Given the description of an element on the screen output the (x, y) to click on. 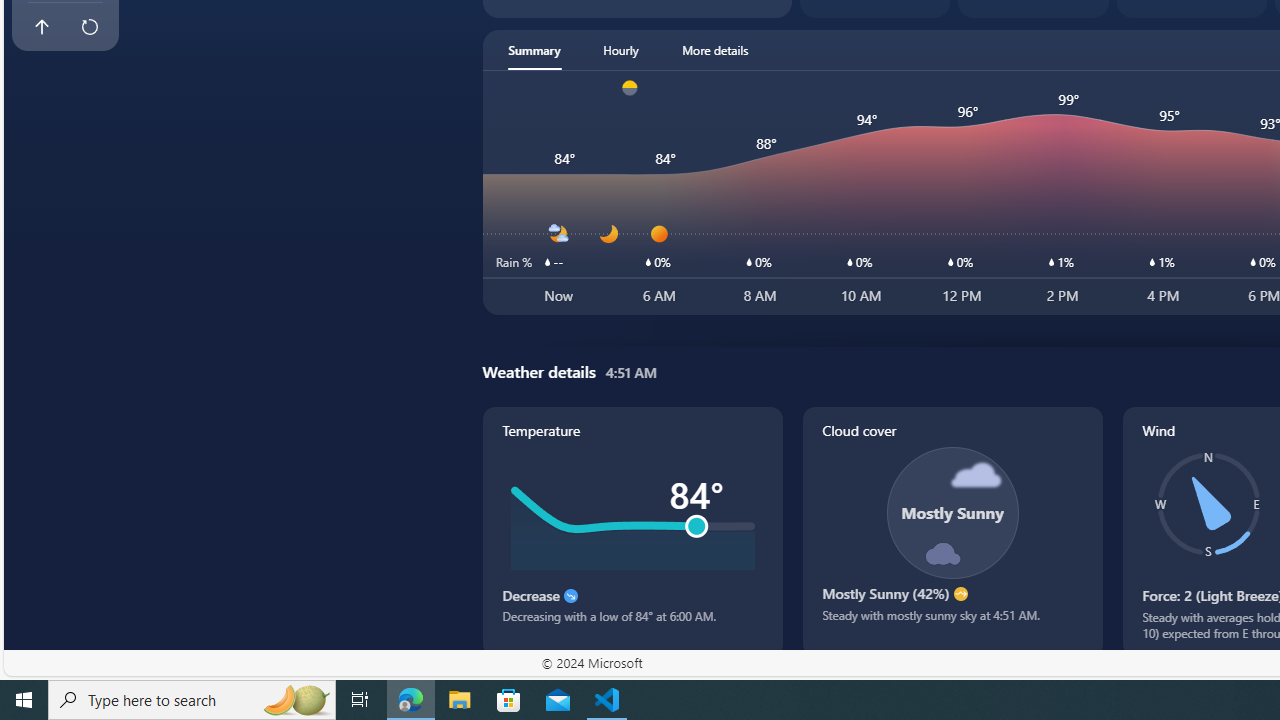
Decrease (570, 595)
Summary (534, 49)
Temperature (632, 531)
More details (715, 49)
Class: cloudCoverSvg-DS-ps0R9q (951, 512)
Refresh this page (89, 26)
Steady with mostly sunny sky at 4:51 AM. (951, 622)
Cloud cover (952, 531)
Back to top (41, 26)
